Given the description of an element on the screen output the (x, y) to click on. 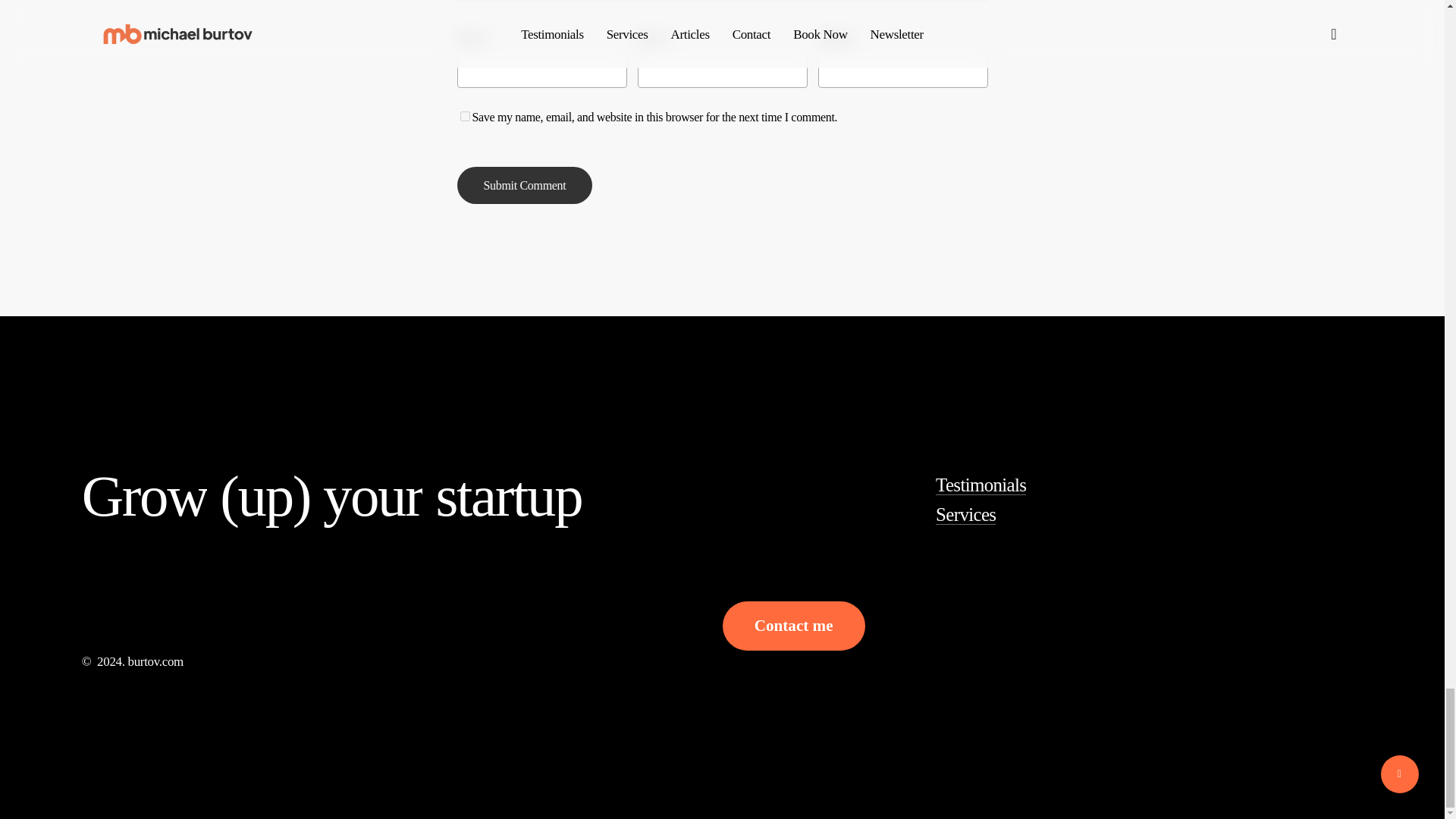
Testimonials (981, 485)
yes (464, 116)
Submit Comment (524, 185)
Contact me (793, 625)
Submit Comment (524, 185)
Services (965, 514)
